Given the description of an element on the screen output the (x, y) to click on. 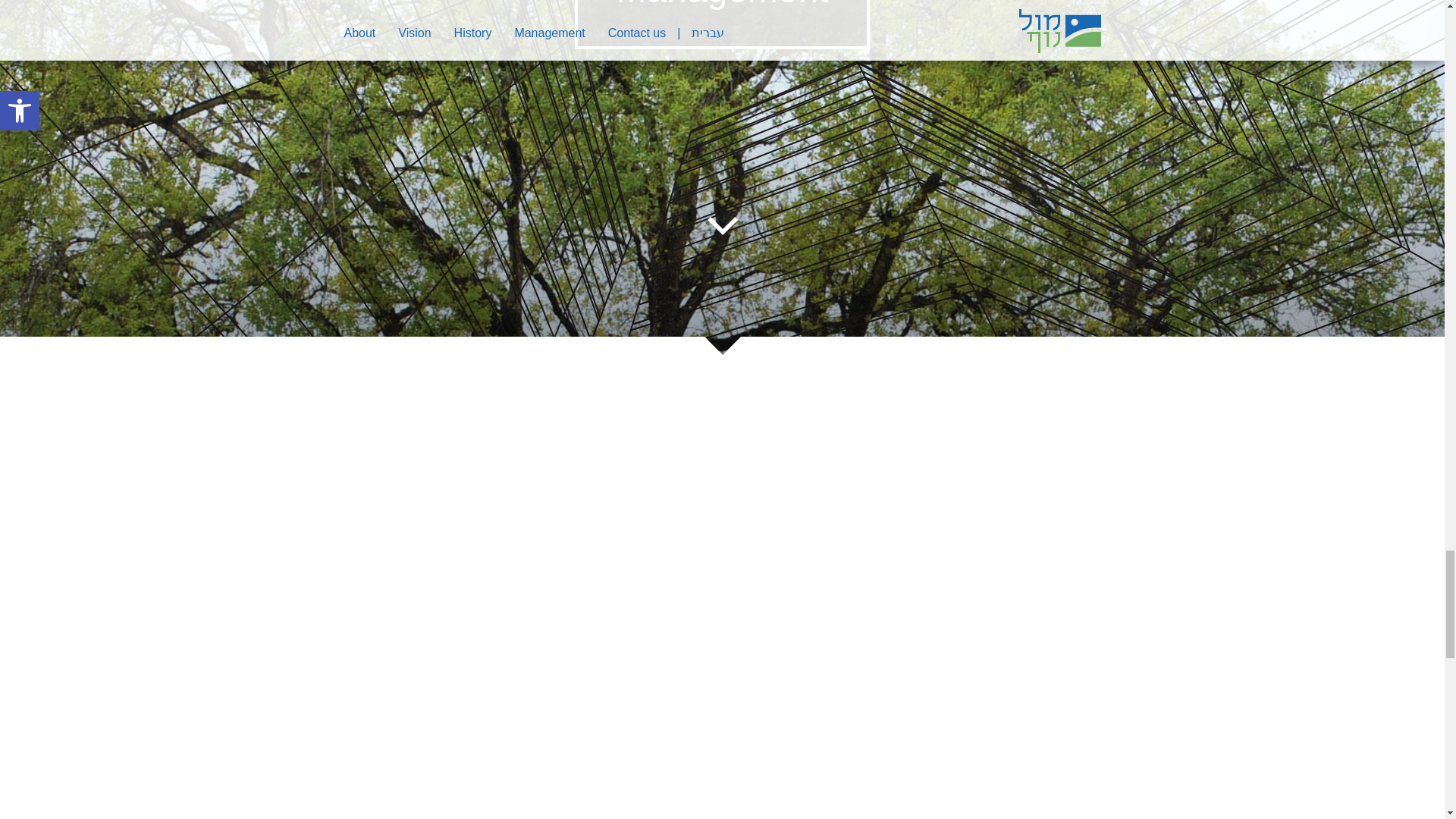
skip to content (721, 225)
